Given the description of an element on the screen output the (x, y) to click on. 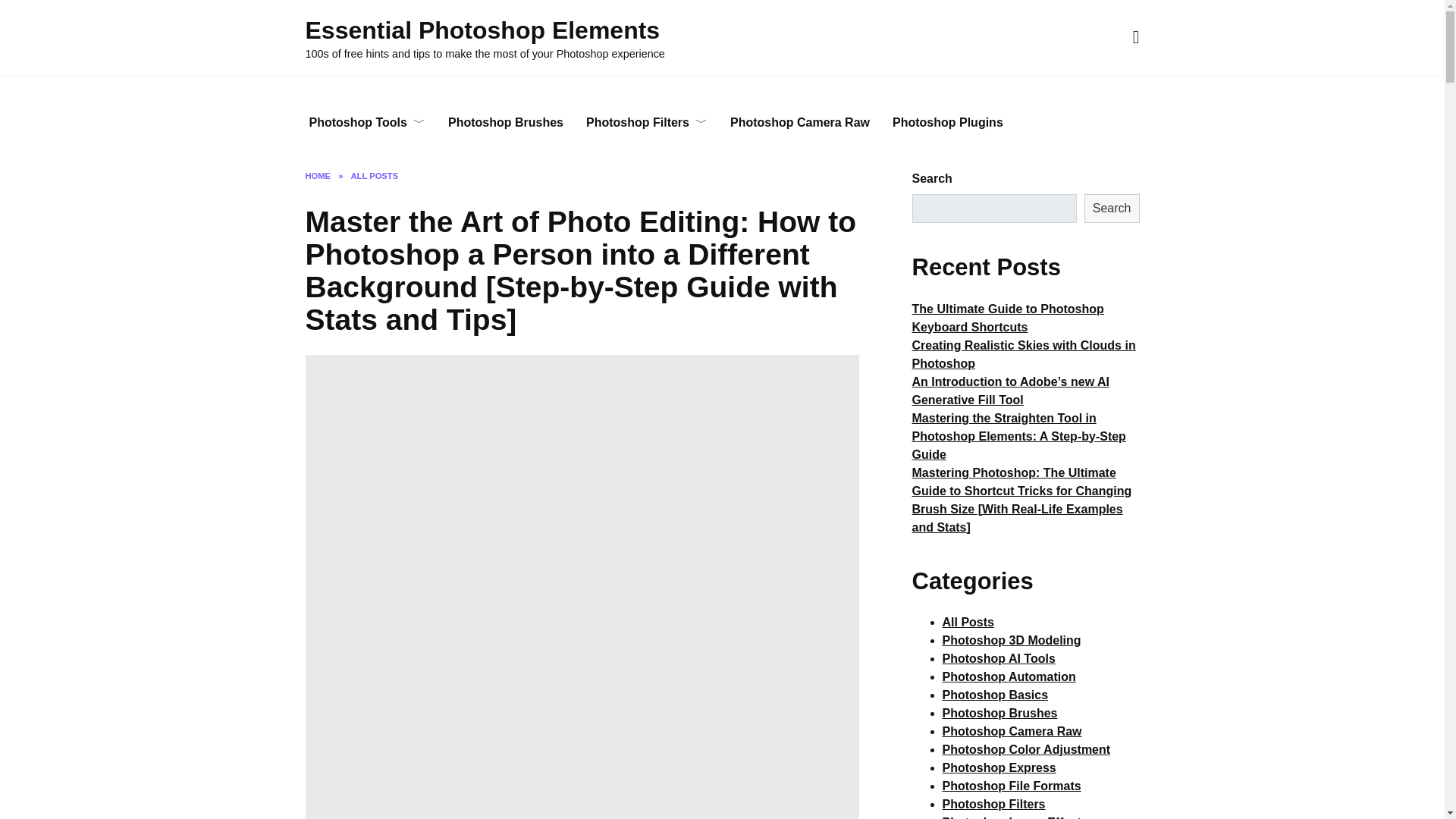
Essential Photoshop Elements (481, 30)
Photoshop Filters (647, 122)
HOME (317, 175)
ALL POSTS (374, 175)
Photoshop Plugins (947, 122)
Photoshop Brushes (505, 122)
Photoshop Tools (366, 122)
Photoshop Camera Raw (799, 122)
